Given the description of an element on the screen output the (x, y) to click on. 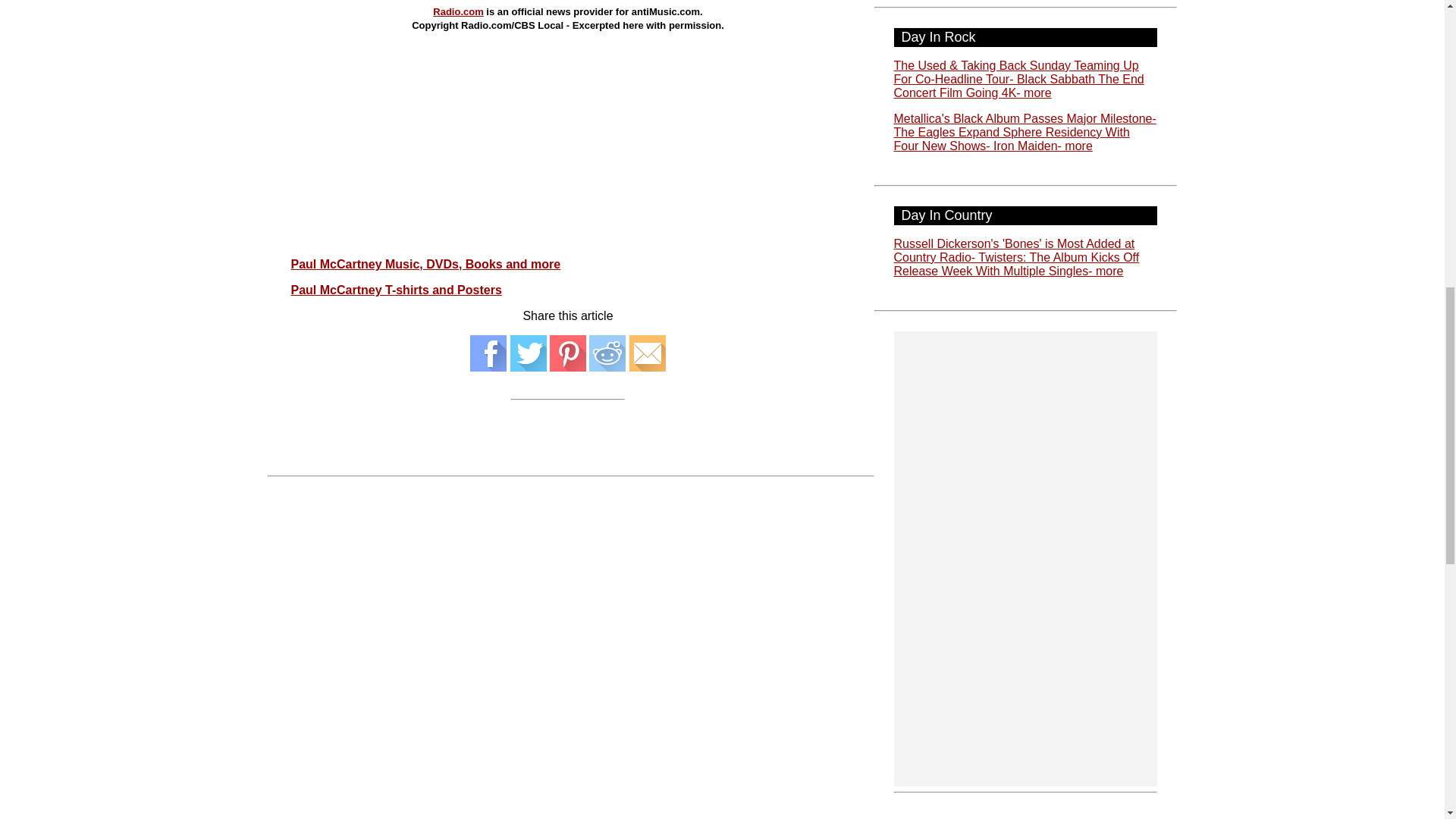
Radio.com (457, 11)
Tweet (529, 367)
Paul McCartney T-shirts and Posters (396, 289)
Send email (646, 367)
Advertisement (568, 113)
Paul McCartney Music, DVDs, Books and more (425, 264)
Share on Reddit (607, 367)
Share on Facebook (488, 367)
Pin it (568, 367)
